Given the description of an element on the screen output the (x, y) to click on. 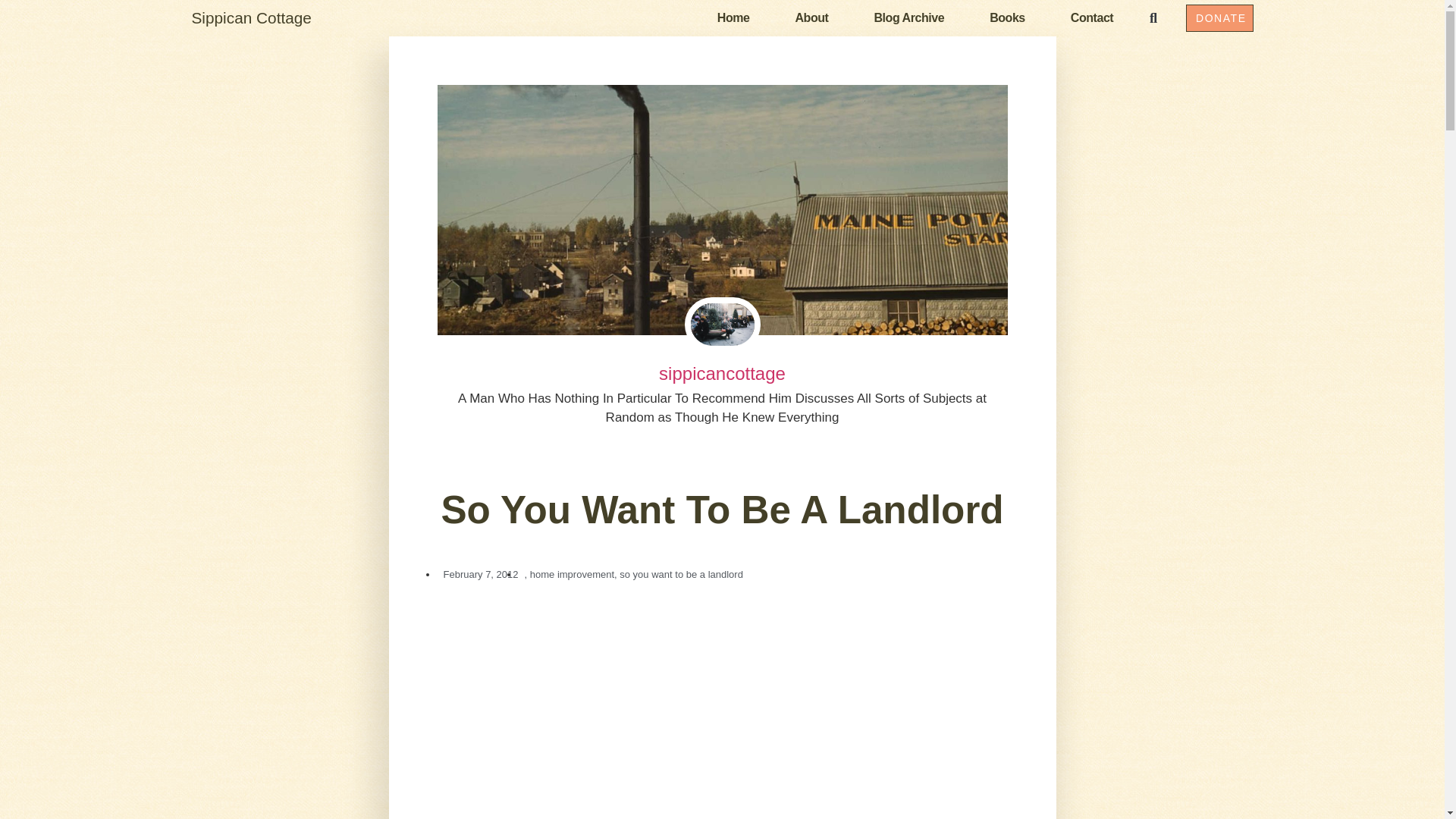
DONATE (1219, 17)
home improvement (571, 573)
Blog Archive (909, 17)
February 7, 2012 (477, 573)
sippicancottage (721, 373)
Sippican Cottage (250, 17)
Home (733, 17)
Books (1006, 17)
so you want to be a landlord (681, 573)
Contact (1091, 17)
About (811, 17)
Hoarder's House- Dirtiest, Most filthy house on Youtube (721, 708)
